Given the description of an element on the screen output the (x, y) to click on. 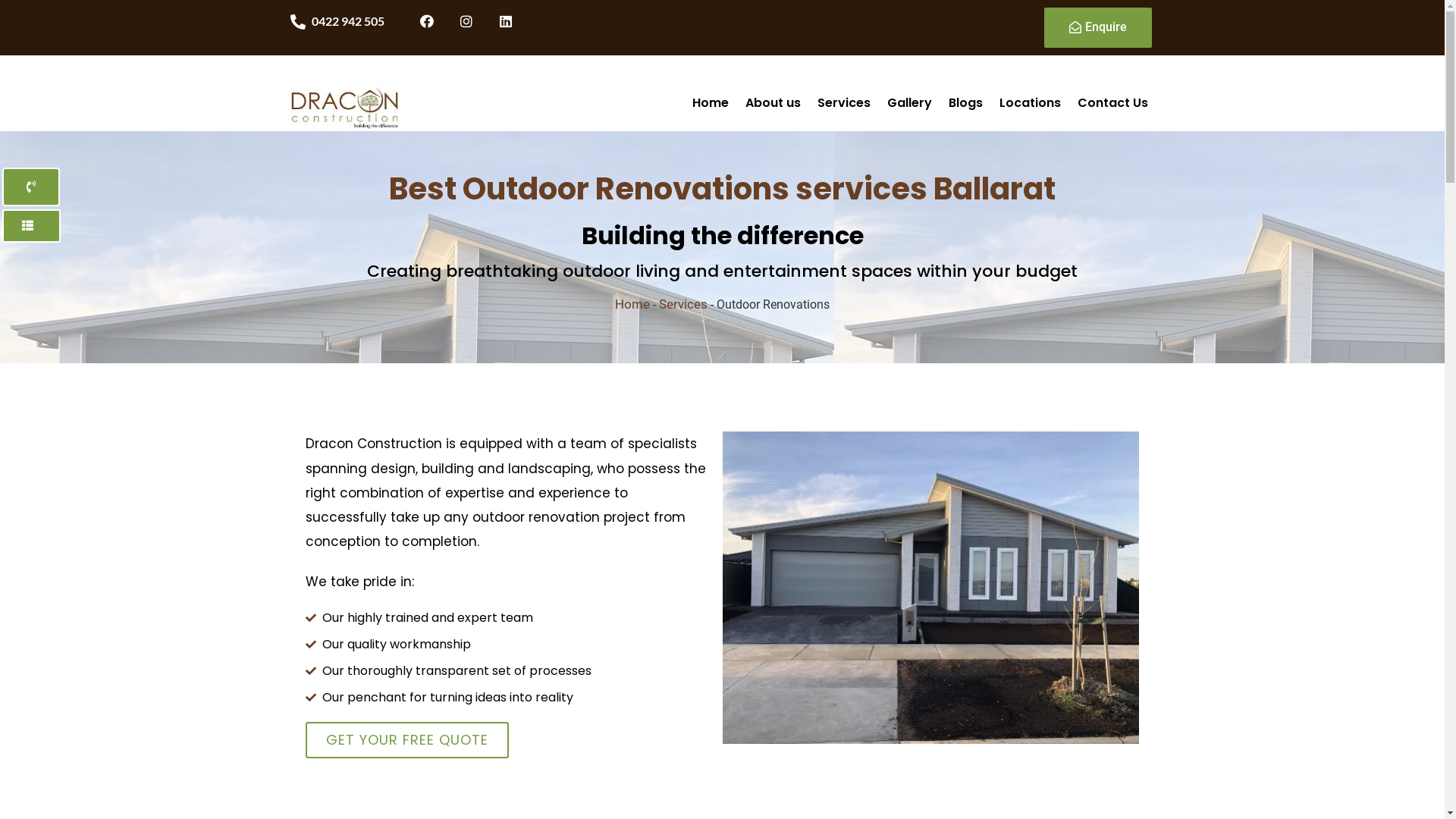
Home Element type: text (632, 303)
Services Element type: text (682, 303)
Home Element type: text (710, 102)
Enquire Element type: text (1097, 27)
0422 942 505 Element type: text (346, 20)
Gallery Element type: text (909, 102)
Contact Us Element type: text (1112, 102)
Blogs Element type: text (965, 102)
Services Element type: text (843, 102)
GET YOUR FREE QUOTE Element type: text (406, 739)
About us Element type: text (772, 102)
Locations Element type: text (1029, 102)
